Given the description of an element on the screen output the (x, y) to click on. 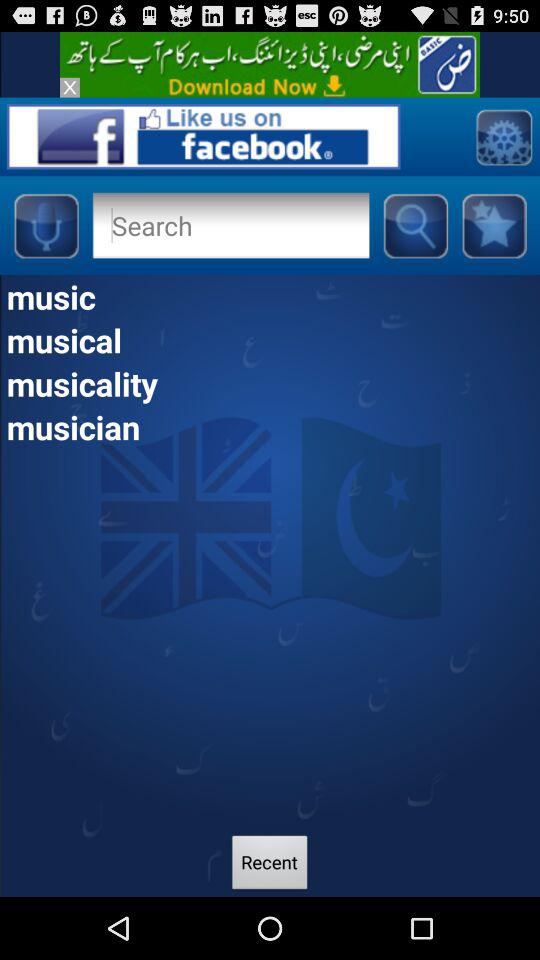
advertisement for some app to download (270, 64)
